Given the description of an element on the screen output the (x, y) to click on. 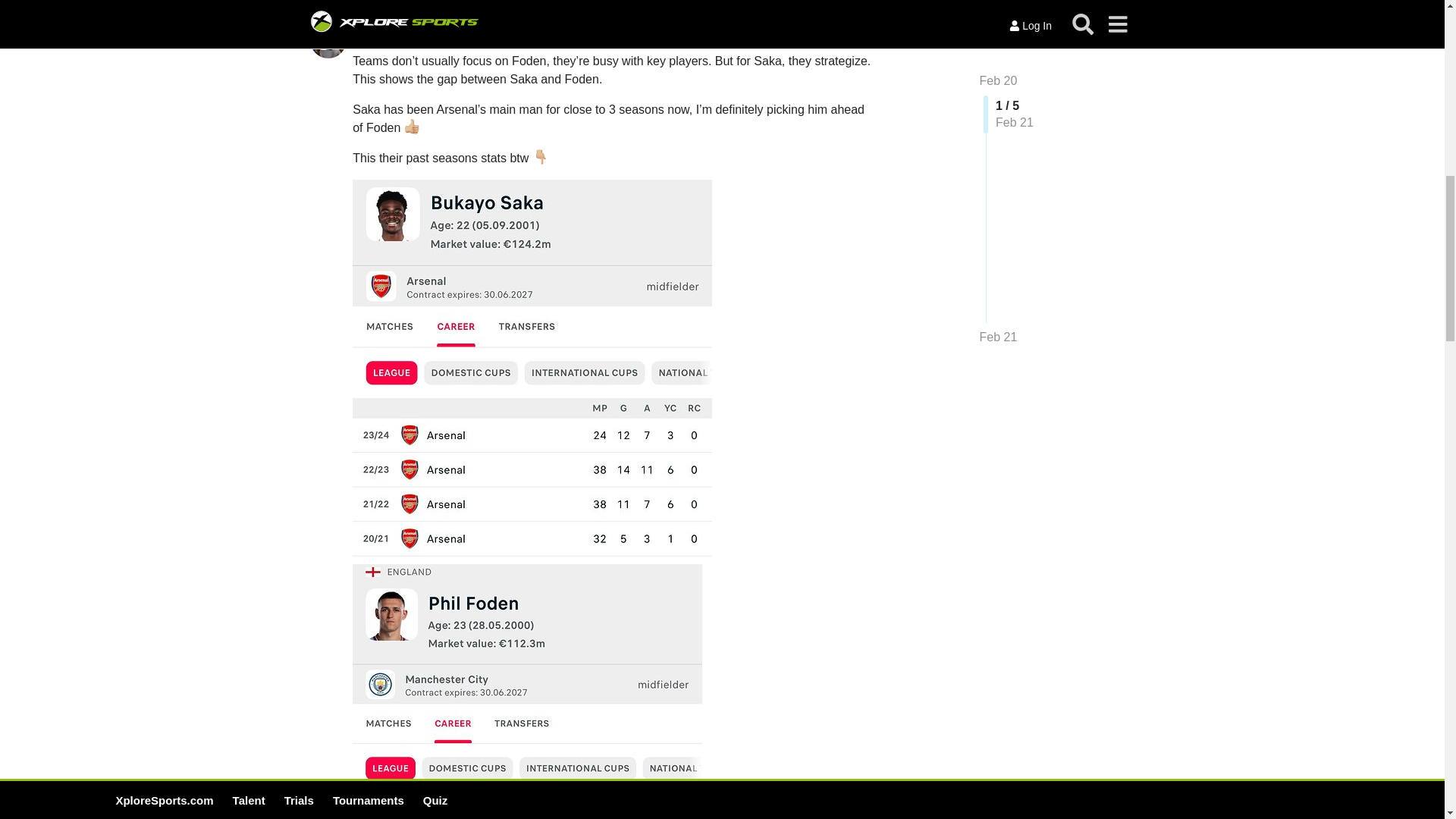
Feb 21 (857, 28)
Daniel (370, 28)
Post date (377, 2)
